Given the description of an element on the screen output the (x, y) to click on. 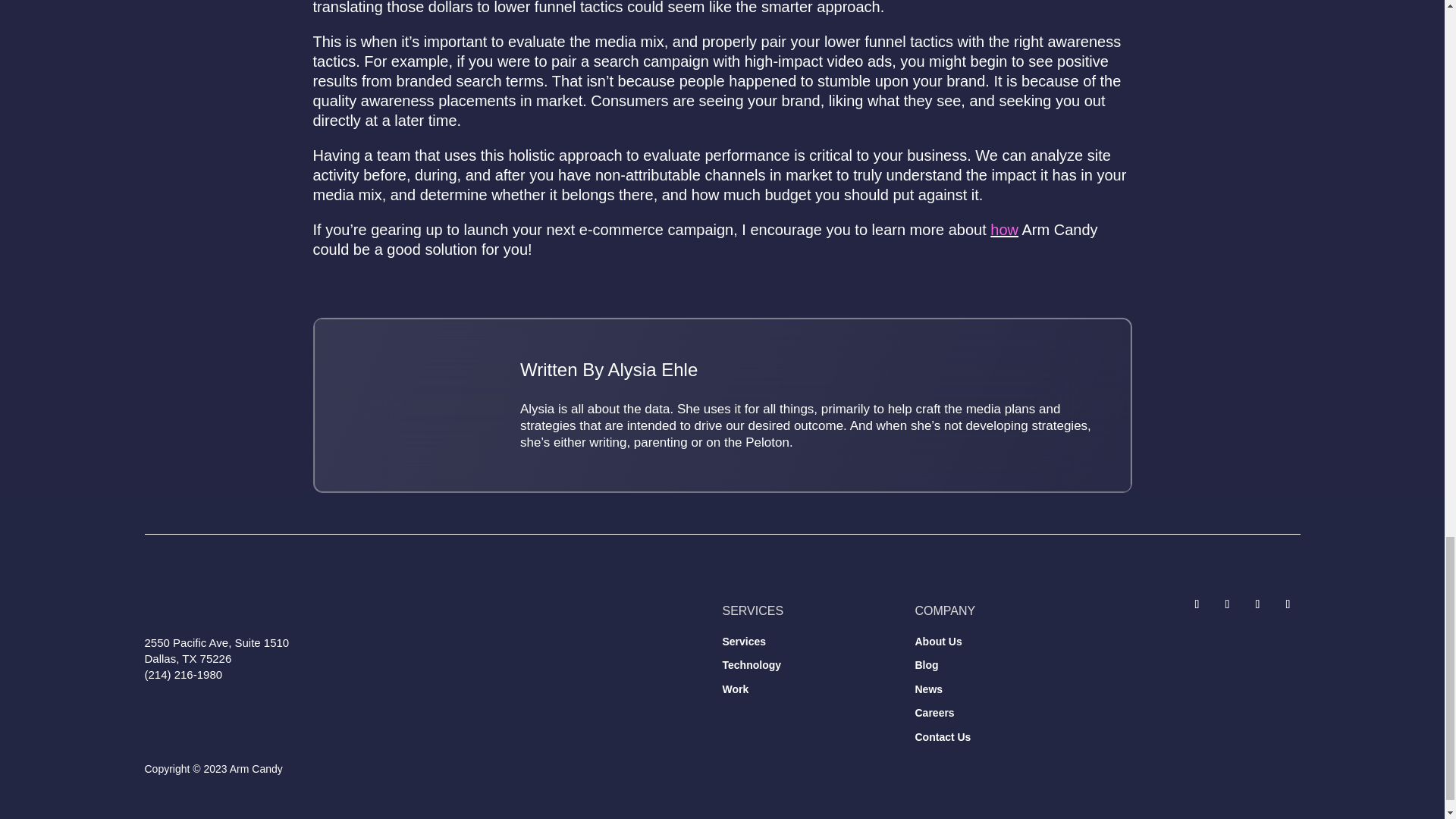
Technology (751, 664)
Arm Candy - logo - dark bg (245, 605)
Follow on Instagram (1256, 604)
Services (743, 641)
Follow on Facebook (1226, 604)
Work (735, 689)
About Us (937, 641)
Follow on X (1196, 604)
how (1003, 229)
Follow on LinkedIn (1287, 604)
Careers (933, 712)
Blog (925, 664)
Contact Us (942, 736)
News (928, 689)
